Given the description of an element on the screen output the (x, y) to click on. 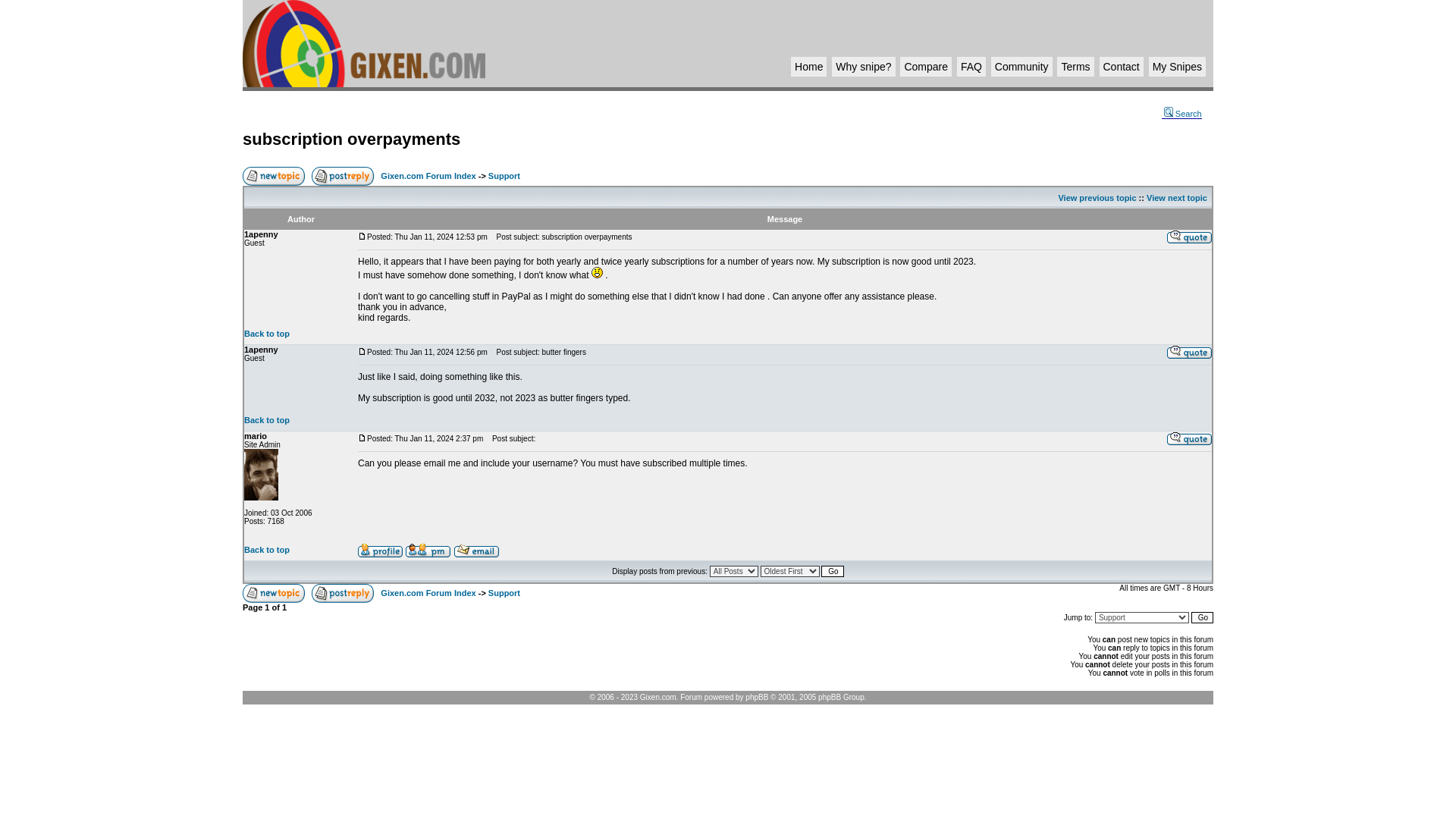
Post (362, 351)
Support (503, 175)
Reply with quote (1189, 236)
Gixen.com Forum Index (428, 175)
Contact (1120, 66)
View user's profile (380, 550)
My Snipes (1177, 66)
Community (1021, 66)
FAQ (970, 66)
Why snipe? (863, 66)
Search (1181, 113)
Post (362, 235)
View previous topic (1096, 197)
View next topic (1177, 197)
Reply with quote (1189, 438)
